Given the description of an element on the screen output the (x, y) to click on. 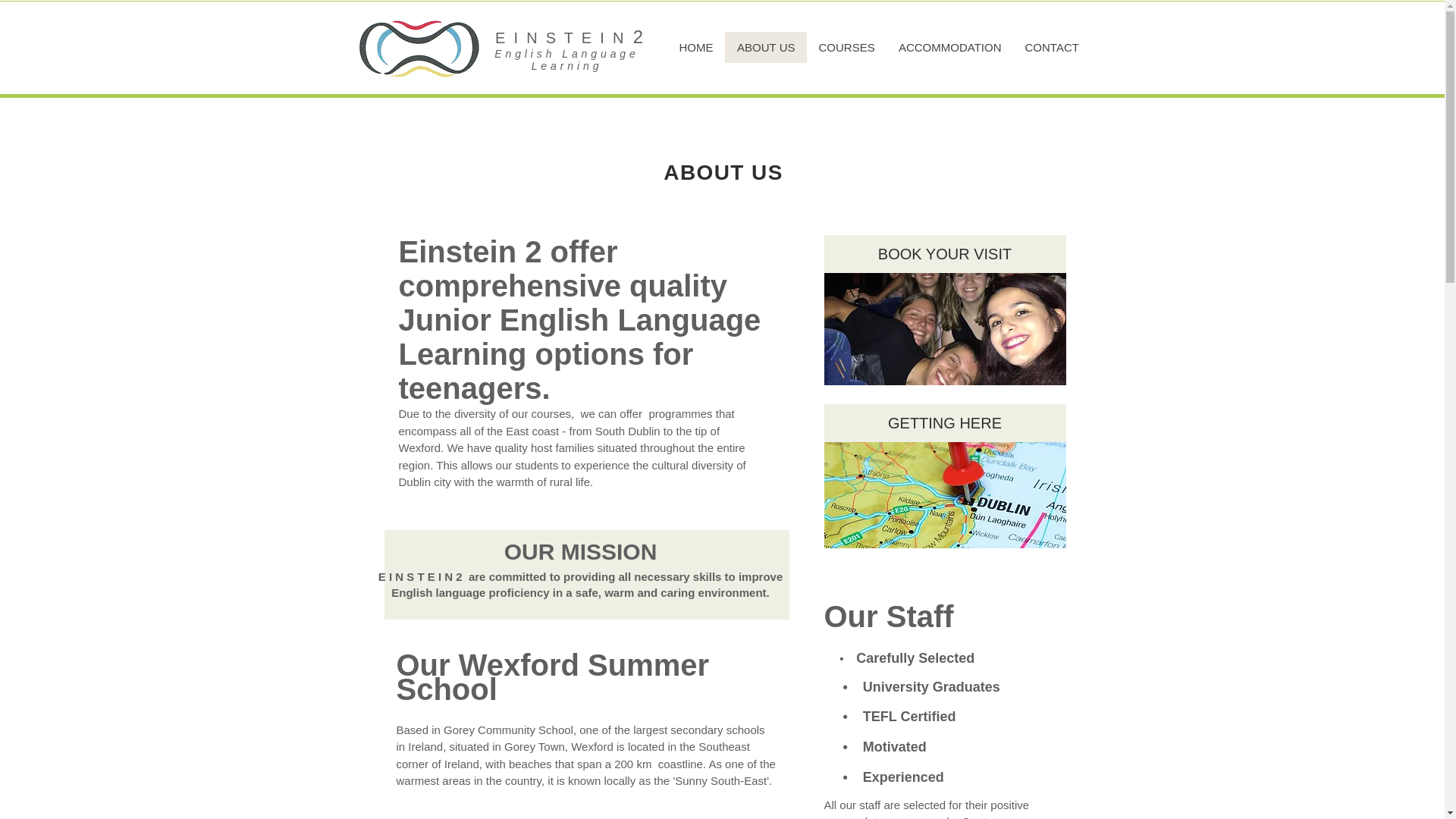
CONTACT (1051, 47)
GETTING HERE (944, 423)
HOME (694, 47)
 E  I  N  S  T  E  I  N  2 (566, 36)
ACCOMMODATION (949, 47)
COURSES (845, 47)
ABOUT US (765, 47)
BOOK YOUR VISIT (944, 253)
